Given the description of an element on the screen output the (x, y) to click on. 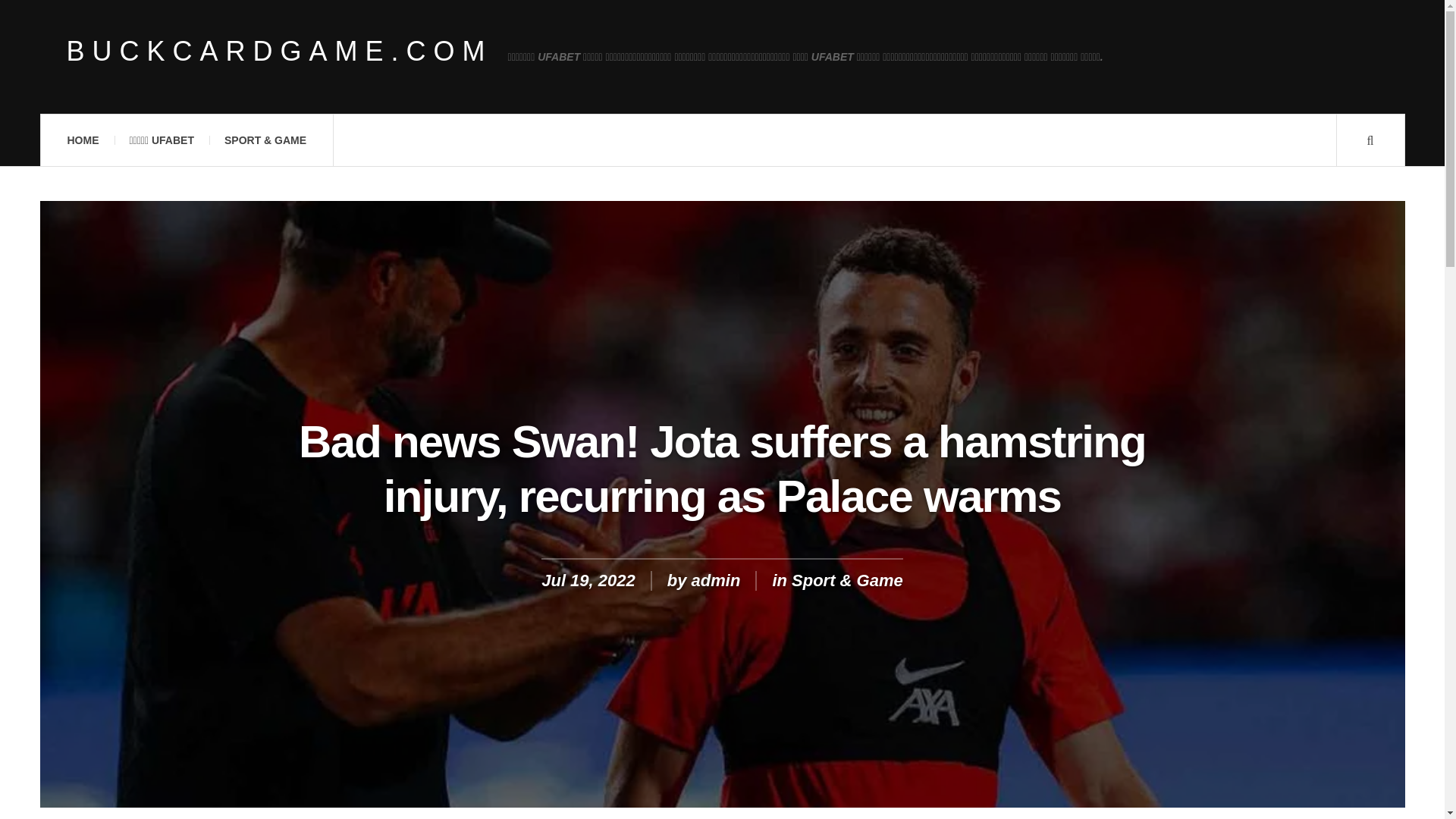
buckcardgame.com (279, 51)
BUCKCARDGAME.COM (279, 51)
HOME (81, 140)
admin (716, 579)
